Given the description of an element on the screen output the (x, y) to click on. 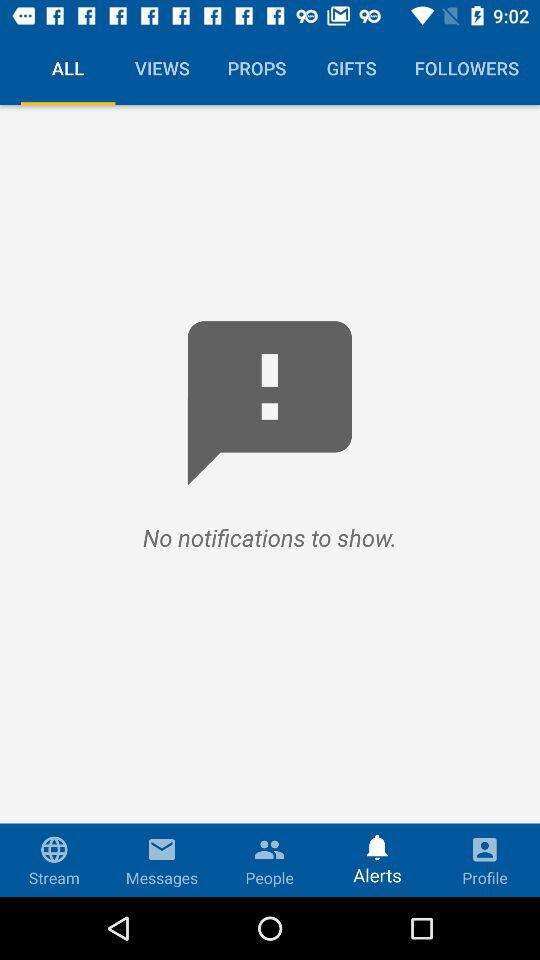
select the icon which is above the alerts (377, 843)
click on profile (484, 859)
click on profile icon (484, 859)
click on icon above people (269, 844)
